Given the description of an element on the screen output the (x, y) to click on. 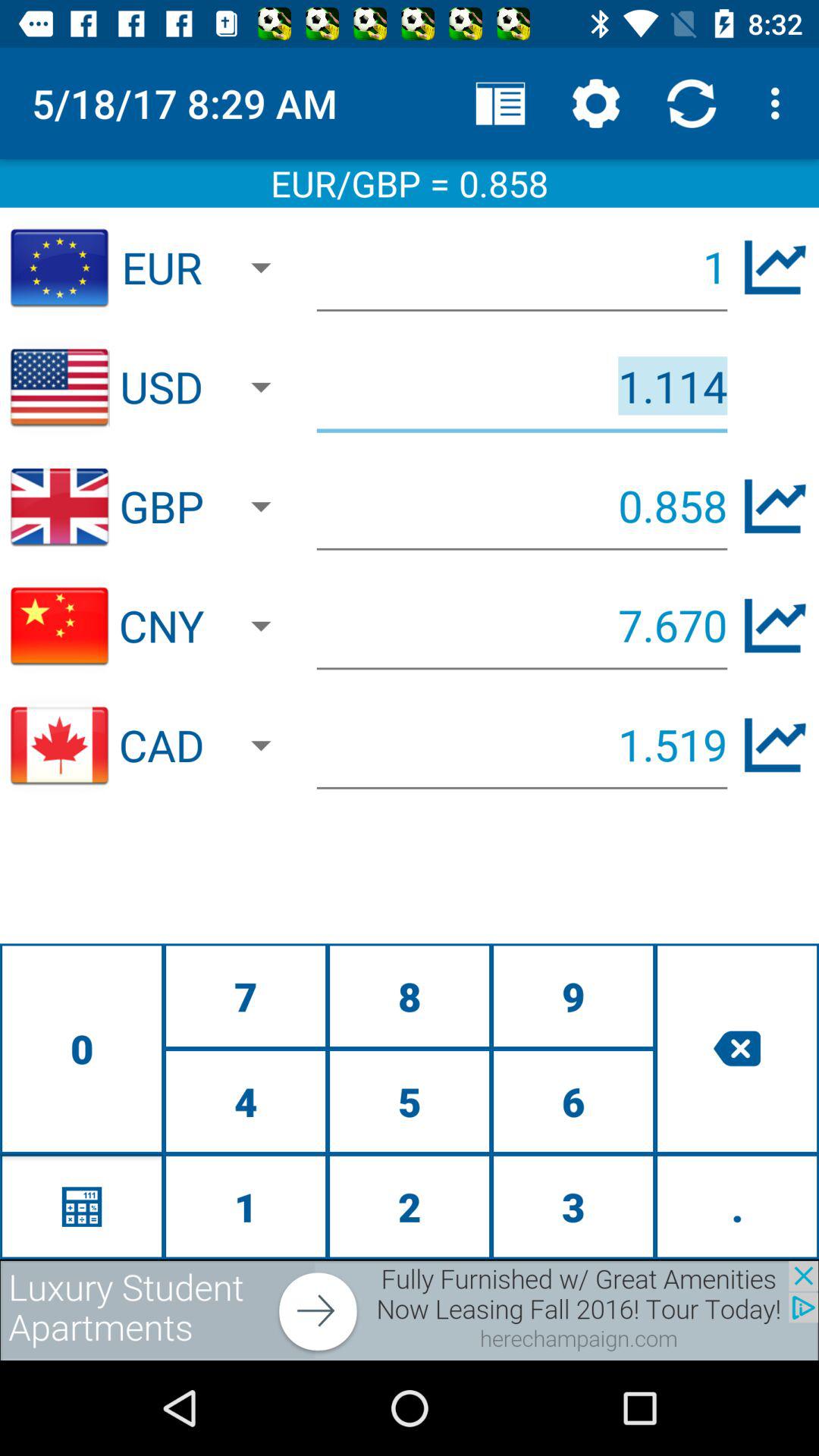
chart (775, 506)
